Given the description of an element on the screen output the (x, y) to click on. 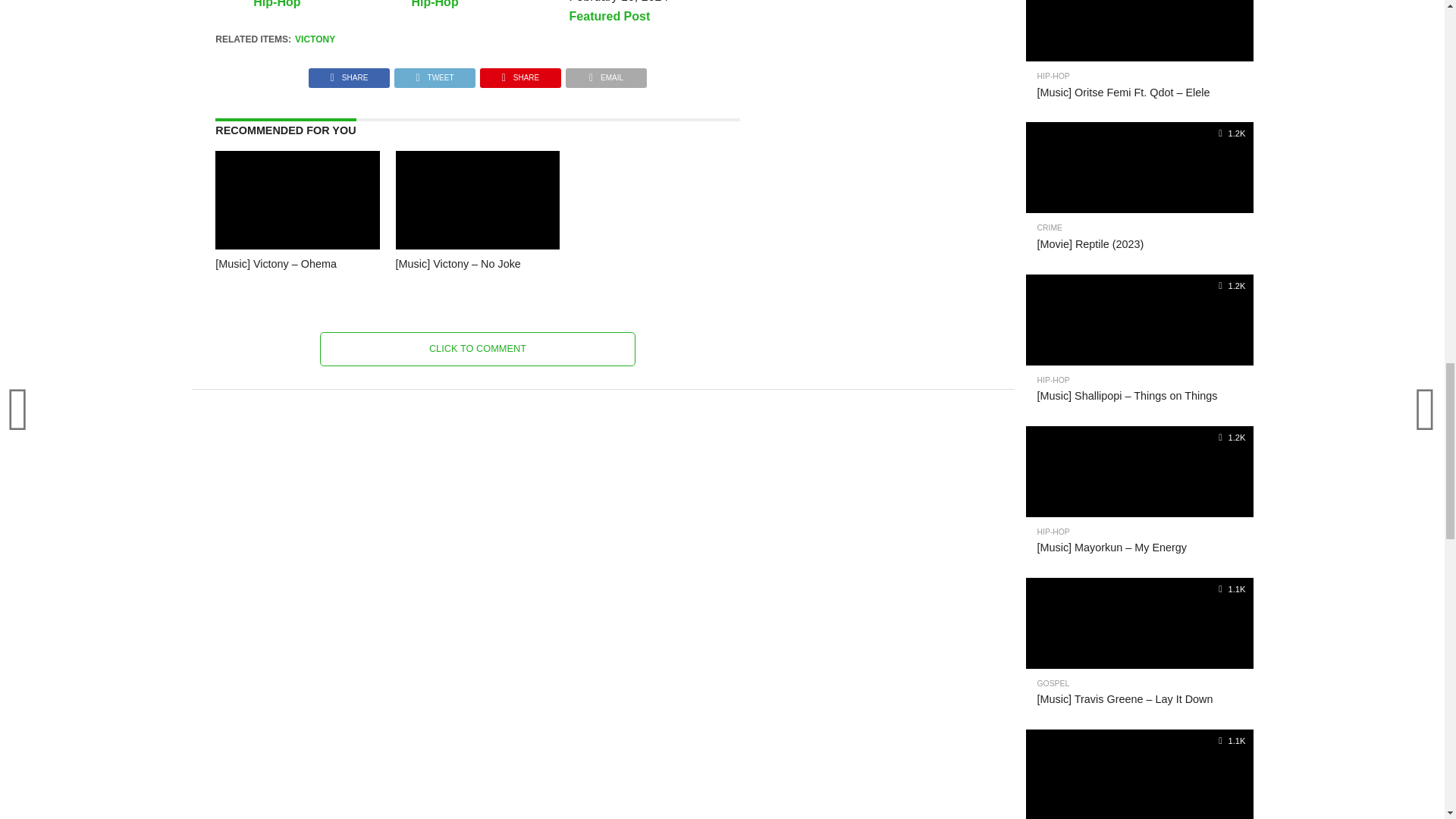
Share on Facebook (349, 73)
Tweet This Post (434, 73)
Pin This Post (520, 73)
